Given the description of an element on the screen output the (x, y) to click on. 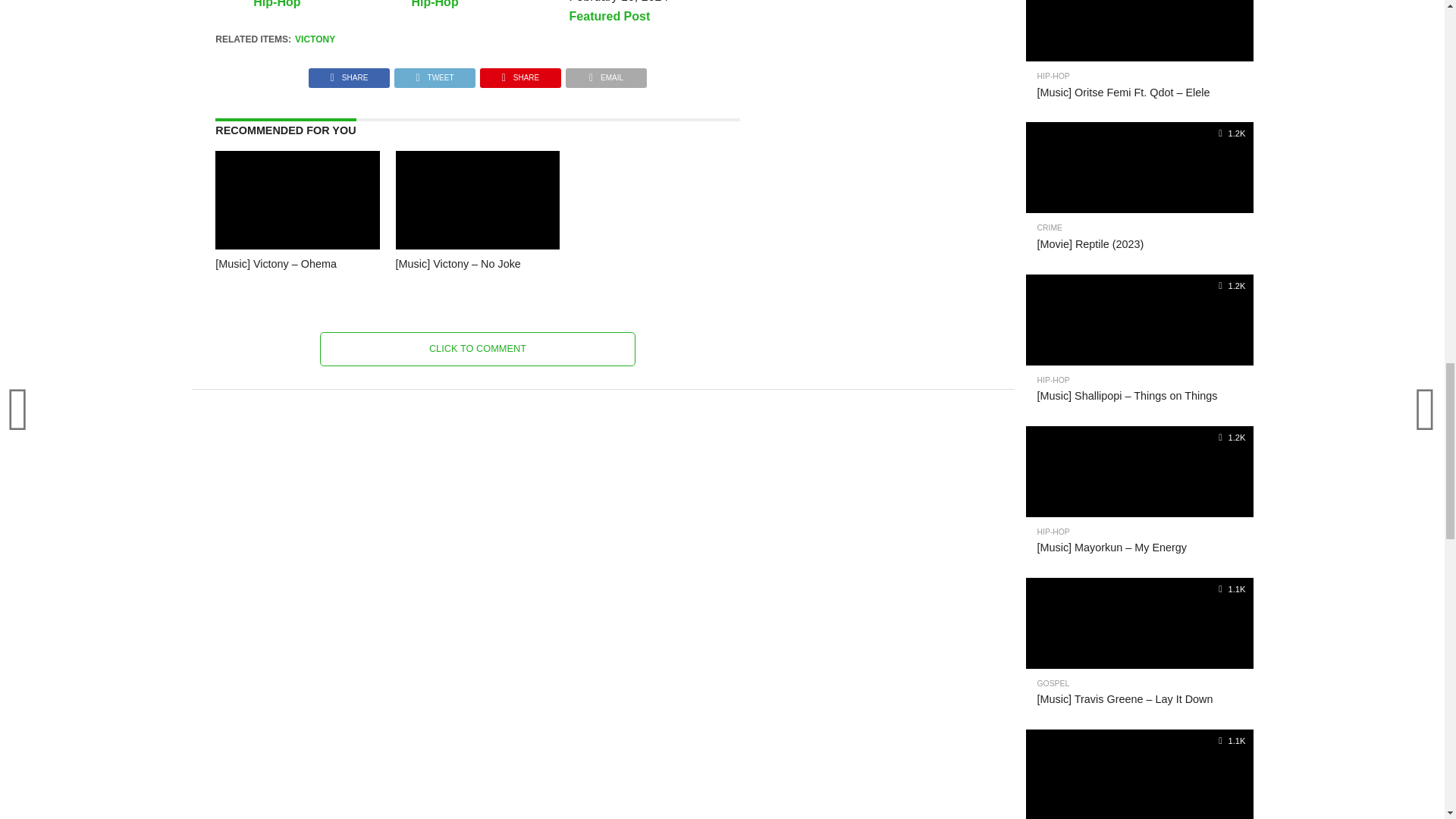
Share on Facebook (349, 73)
Tweet This Post (434, 73)
Pin This Post (520, 73)
